Given the description of an element on the screen output the (x, y) to click on. 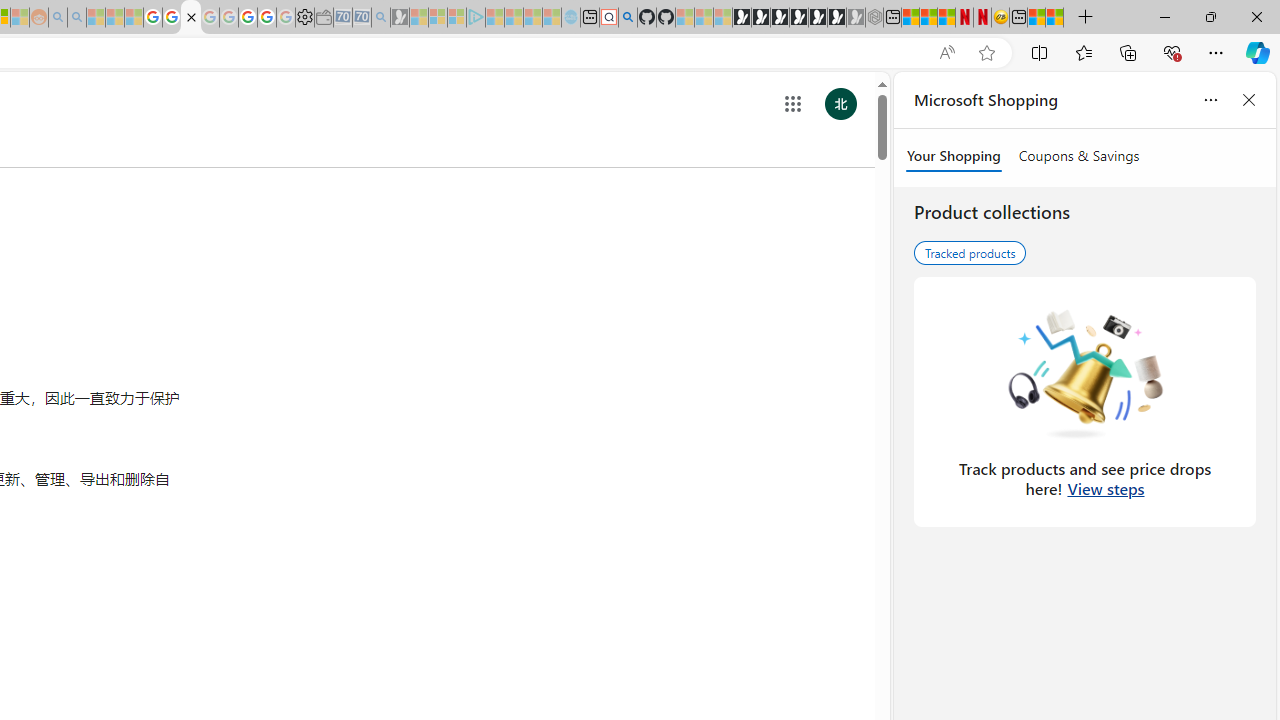
Class: gb_E (792, 103)
github - Search (628, 17)
